Given the description of an element on the screen output the (x, y) to click on. 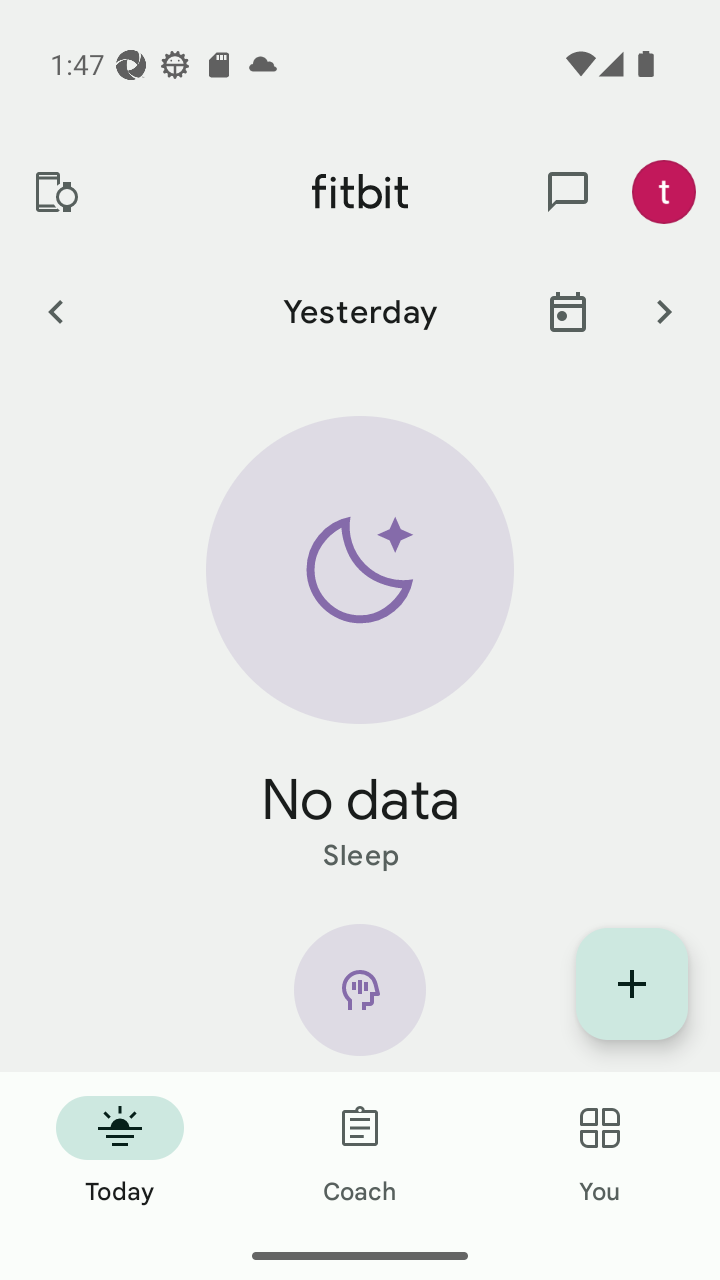
Devices and apps (55, 191)
messages and notifications (567, 191)
Previous Day (55, 311)
Jump to today (567, 311)
Next Day (664, 311)
Sleep static hero arc No data Sleep (359, 645)
Mindfulness icon (360, 998)
Display list of quick log entries (632, 983)
Coach (359, 1151)
You (600, 1151)
